Given the description of an element on the screen output the (x, y) to click on. 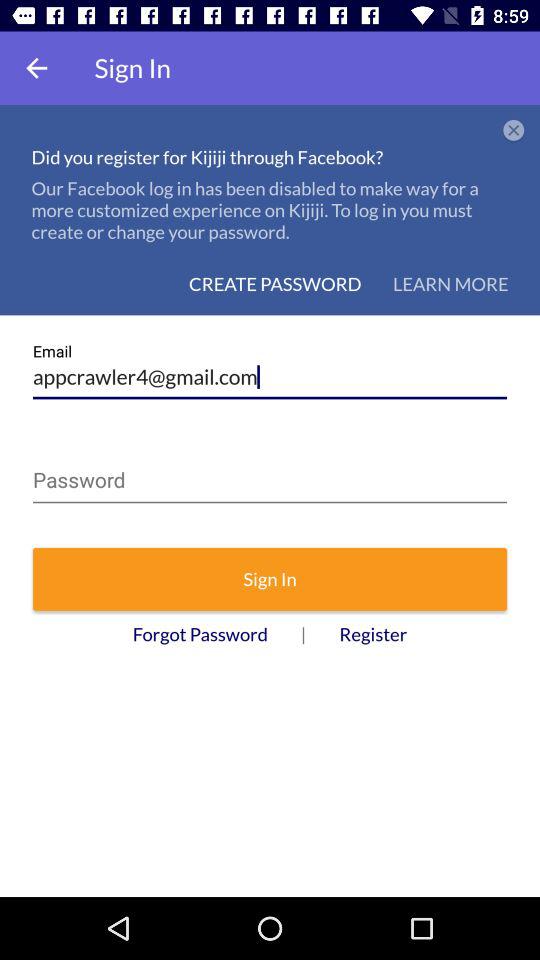
tap item to the left of the sign in icon (36, 68)
